Given the description of an element on the screen output the (x, y) to click on. 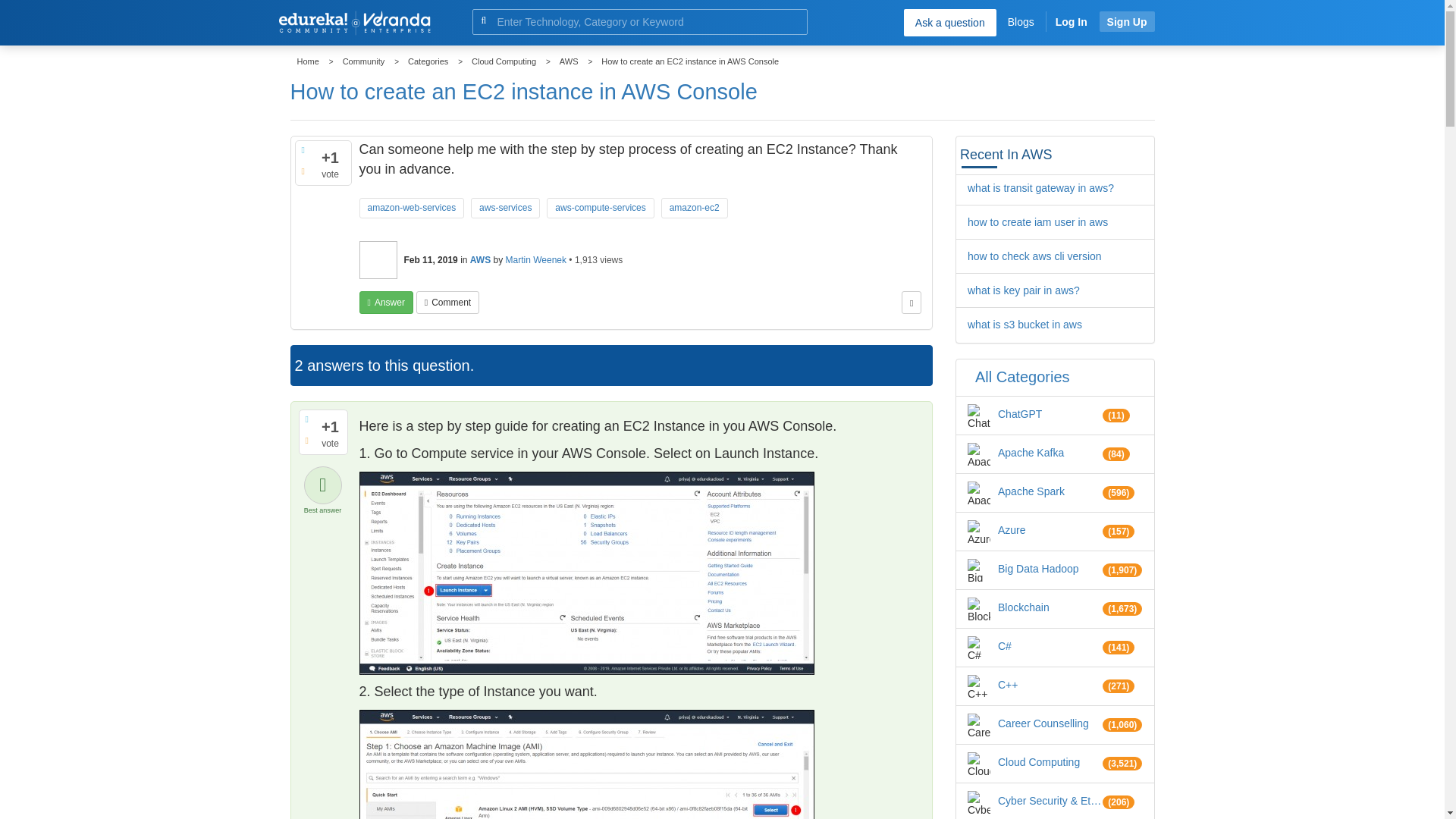
Answer this question (386, 302)
Ask a question (949, 22)
Blogs (1020, 21)
Add a comment on this question (447, 302)
